Given the description of an element on the screen output the (x, y) to click on. 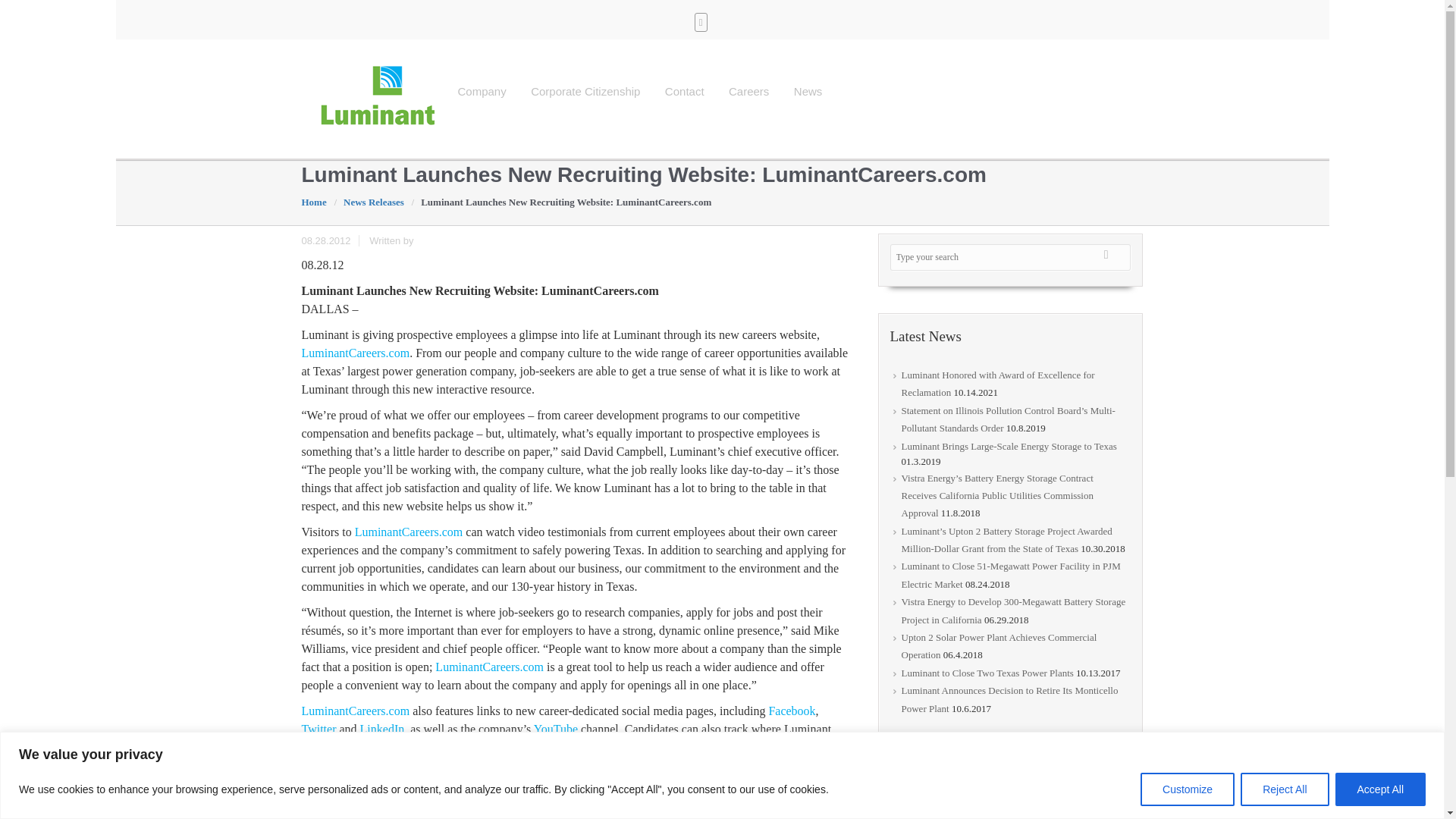
Corporate Citizenship (585, 91)
Home (317, 202)
LuminantCareers.com (409, 531)
Accept All (1380, 788)
Reject All (1283, 788)
Customize (1187, 788)
Careers (748, 91)
News Releases (377, 202)
LuminantCareers.com (355, 710)
LuminantCareers.com (489, 666)
